Given the description of an element on the screen output the (x, y) to click on. 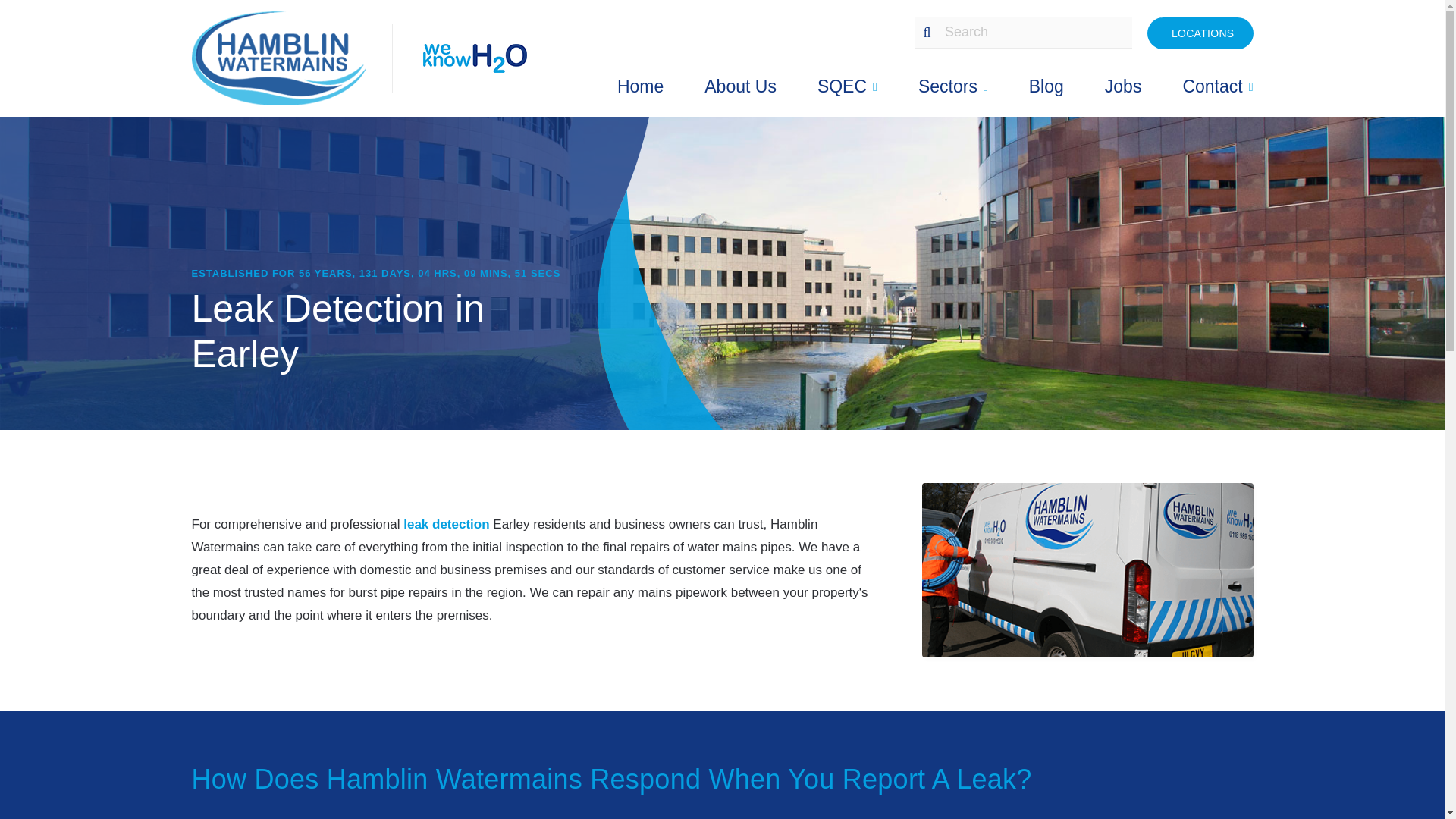
LOCATIONS (1200, 32)
Contact (1217, 86)
Adeco Excel LLP (290, 58)
About Us (740, 86)
leak detection (446, 523)
SQEC (846, 86)
Sectors (953, 86)
